Given the description of an element on the screen output the (x, y) to click on. 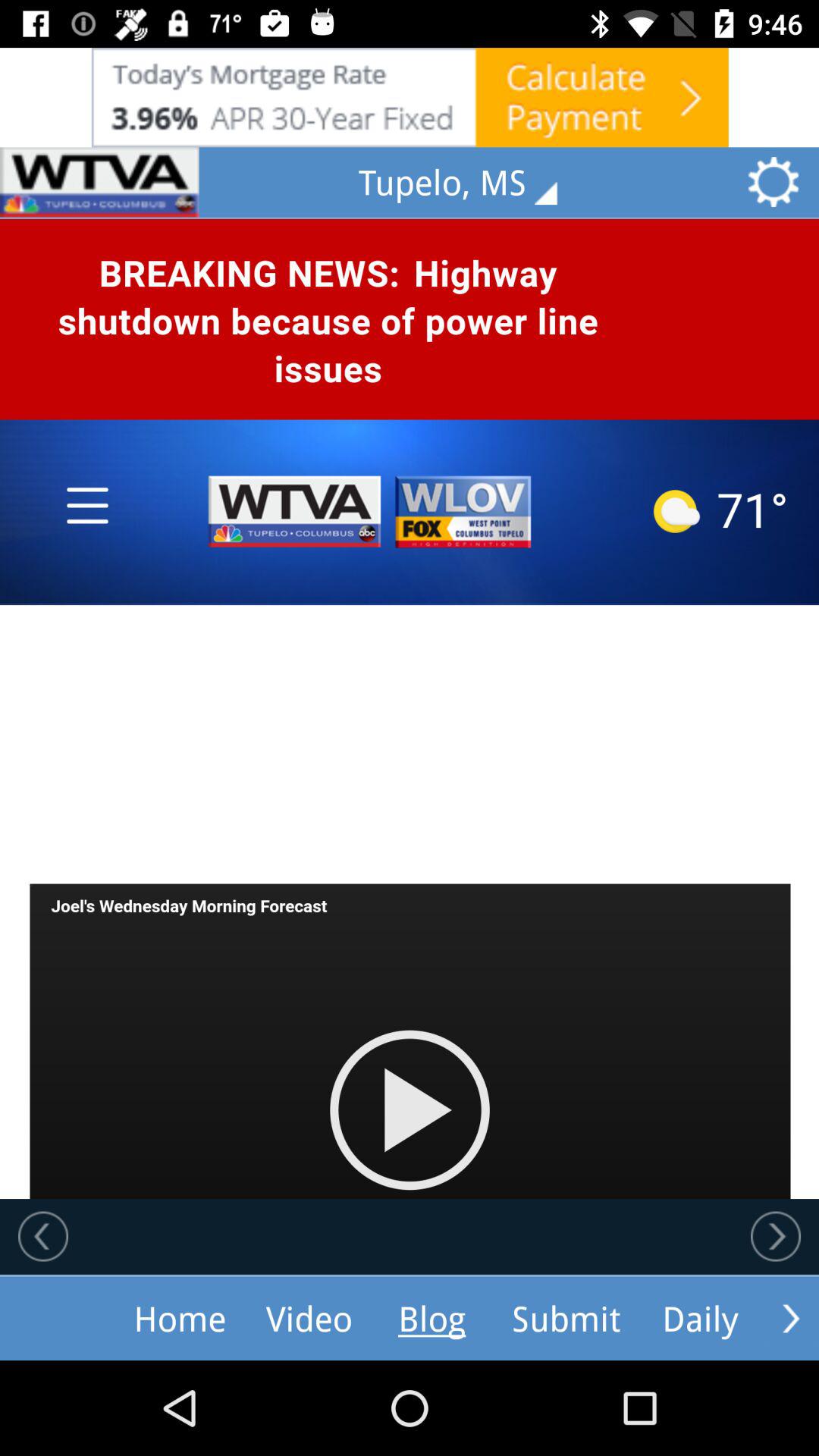
scroll right (791, 1318)
